Given the description of an element on the screen output the (x, y) to click on. 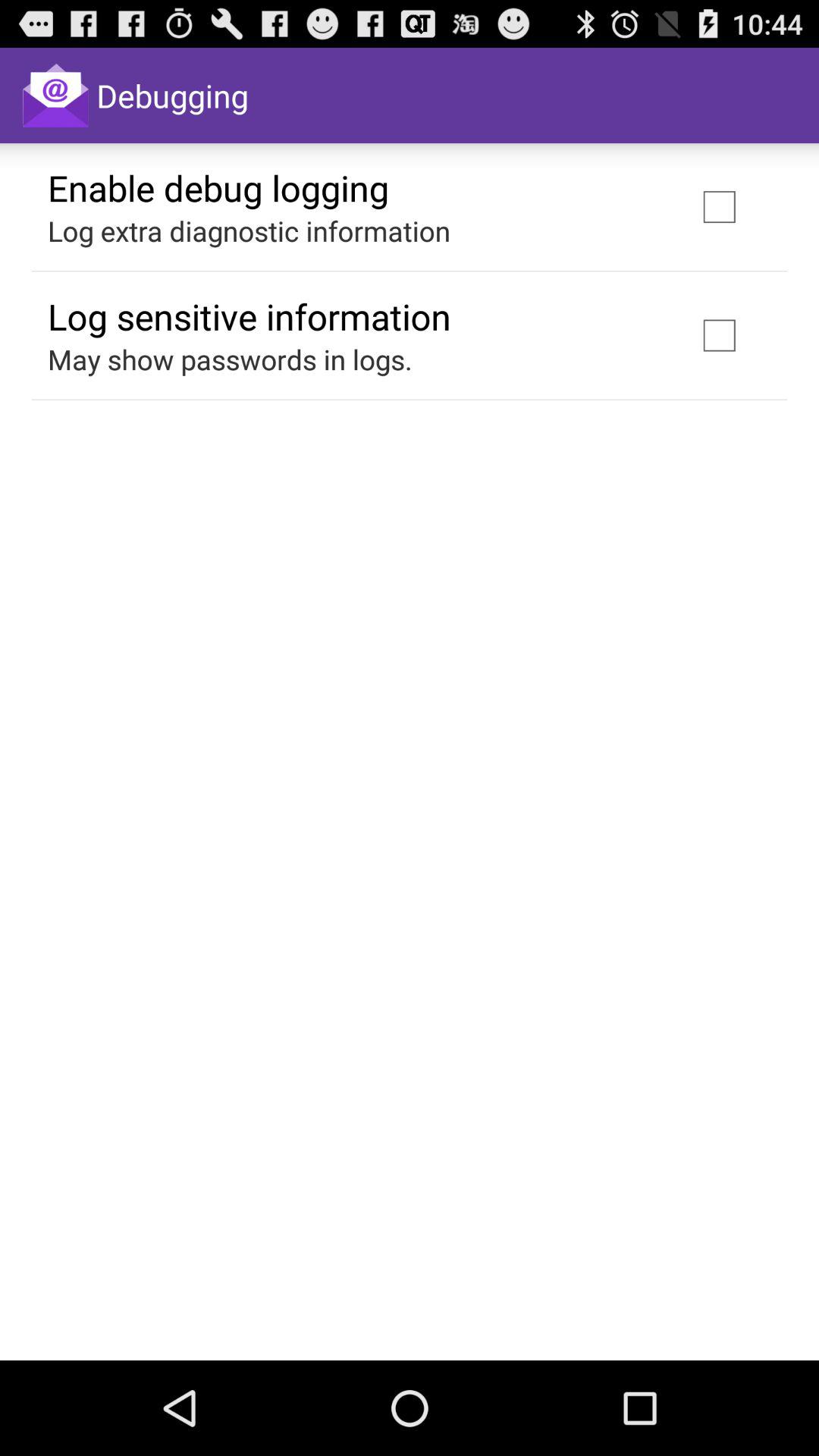
turn on the may show passwords item (229, 359)
